Given the description of an element on the screen output the (x, y) to click on. 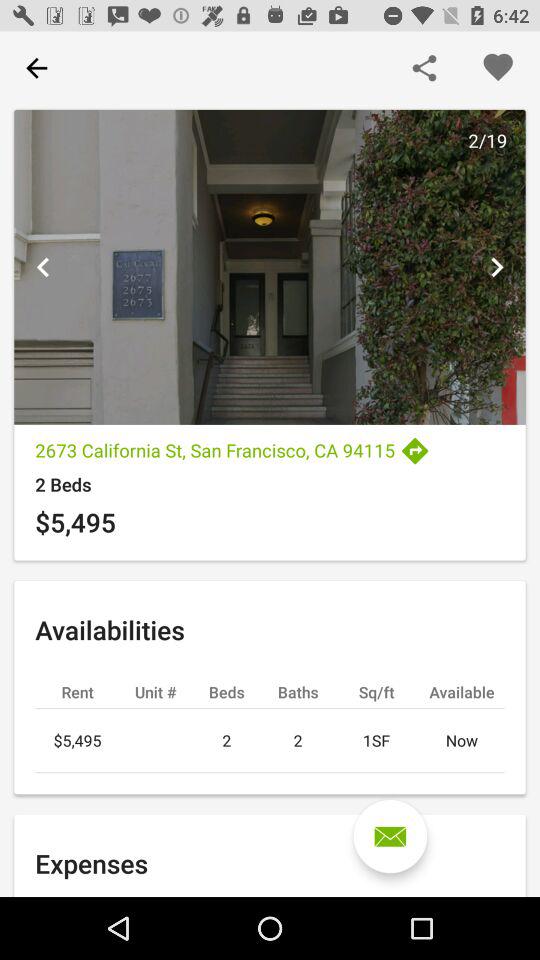
back to the previous page (36, 68)
